Given the description of an element on the screen output the (x, y) to click on. 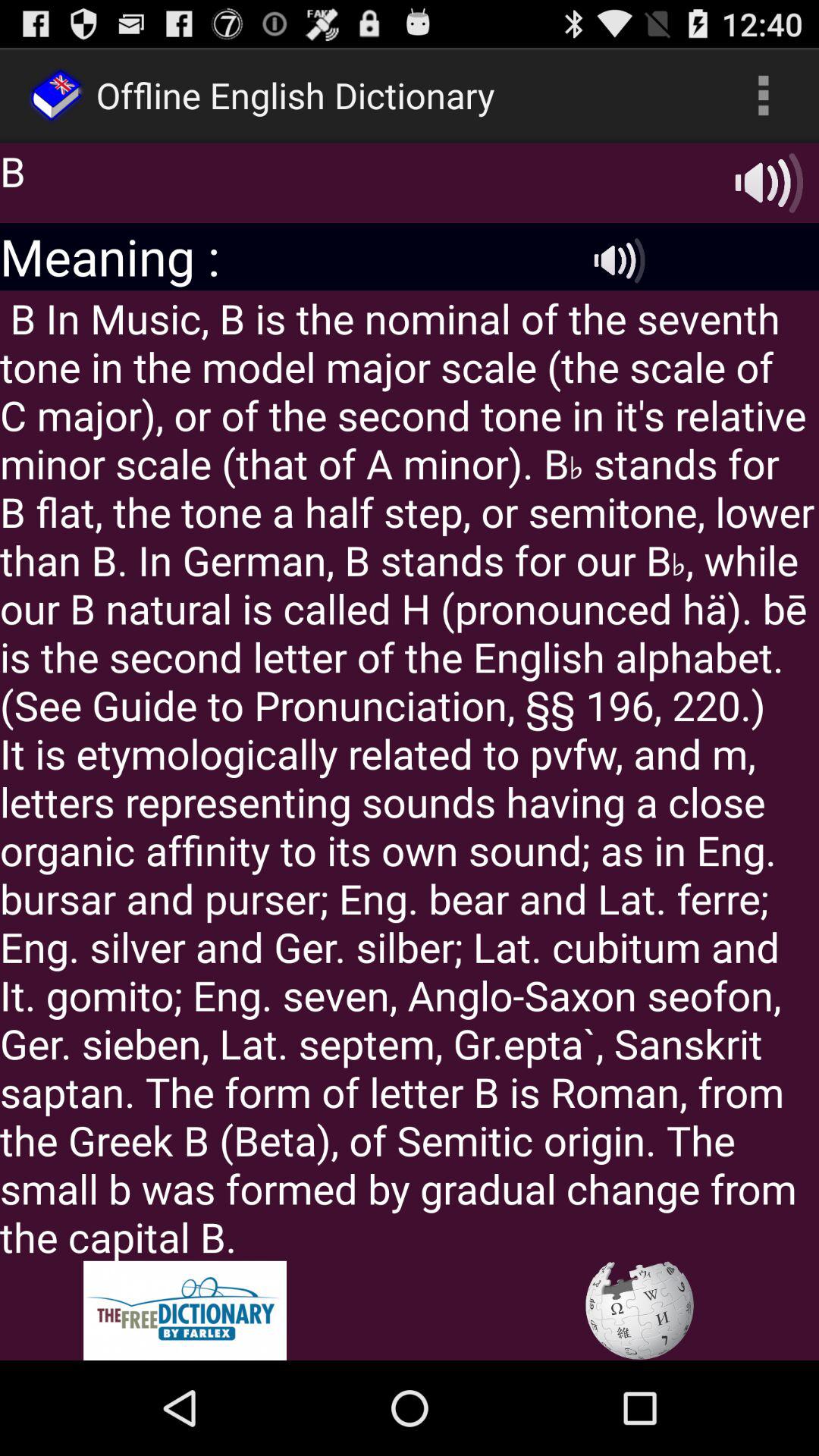
jump until b in music item (409, 775)
